Given the description of an element on the screen output the (x, y) to click on. 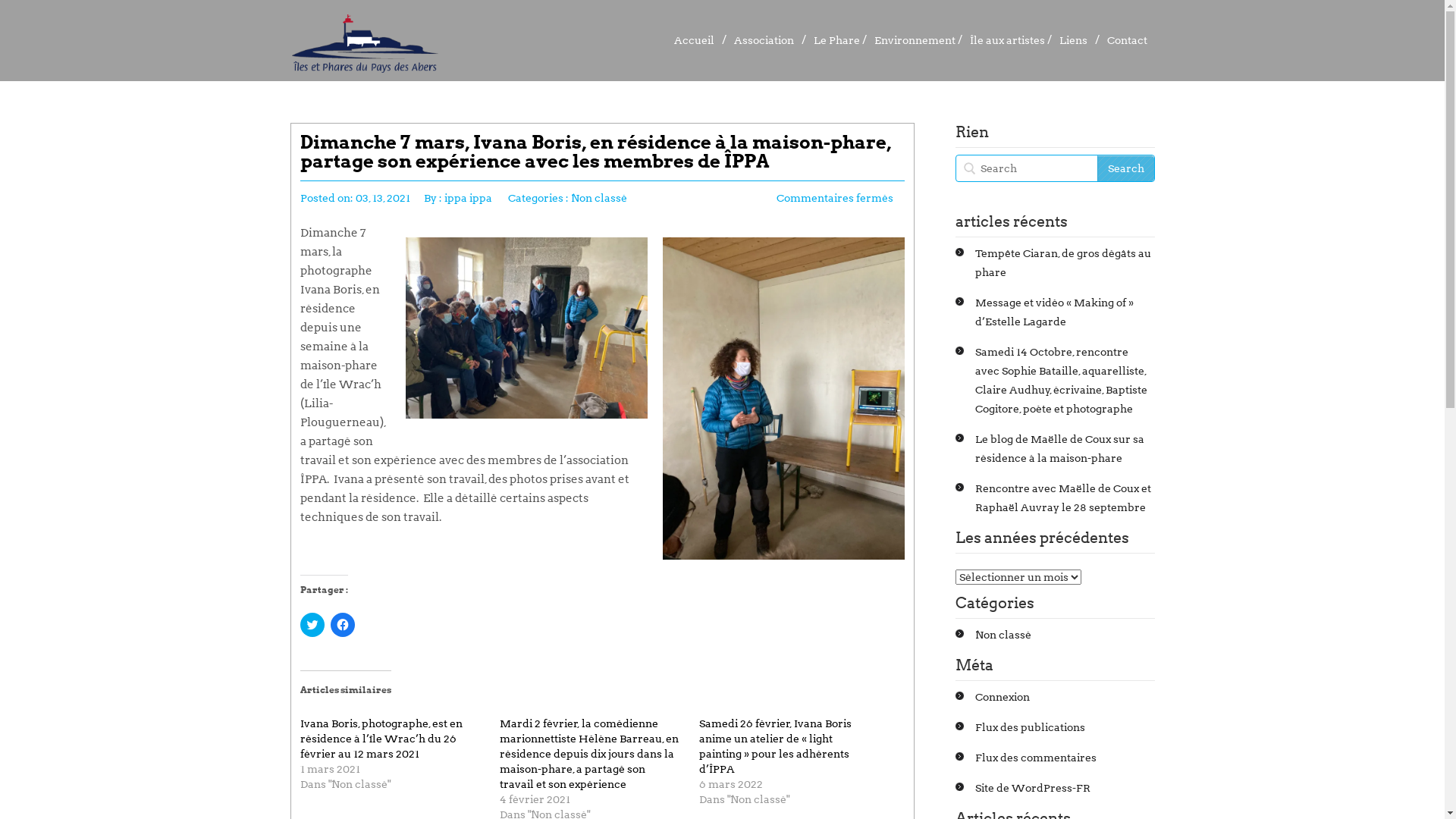
Flux des commentaires Element type: text (1035, 757)
ippa ippa Element type: text (468, 197)
Accueil Element type: text (693, 41)
Connexion Element type: text (1002, 696)
03, 13, 2021 Element type: text (381, 197)
Environnement Element type: text (910, 41)
Association Element type: text (763, 41)
Le Phare Element type: text (832, 41)
Search Element type: text (1124, 168)
Liens Element type: text (1072, 41)
Flux des publications Element type: text (1030, 727)
Contact Element type: text (1126, 41)
Site de WordPress-FR Element type: text (1032, 787)
